Given the description of an element on the screen output the (x, y) to click on. 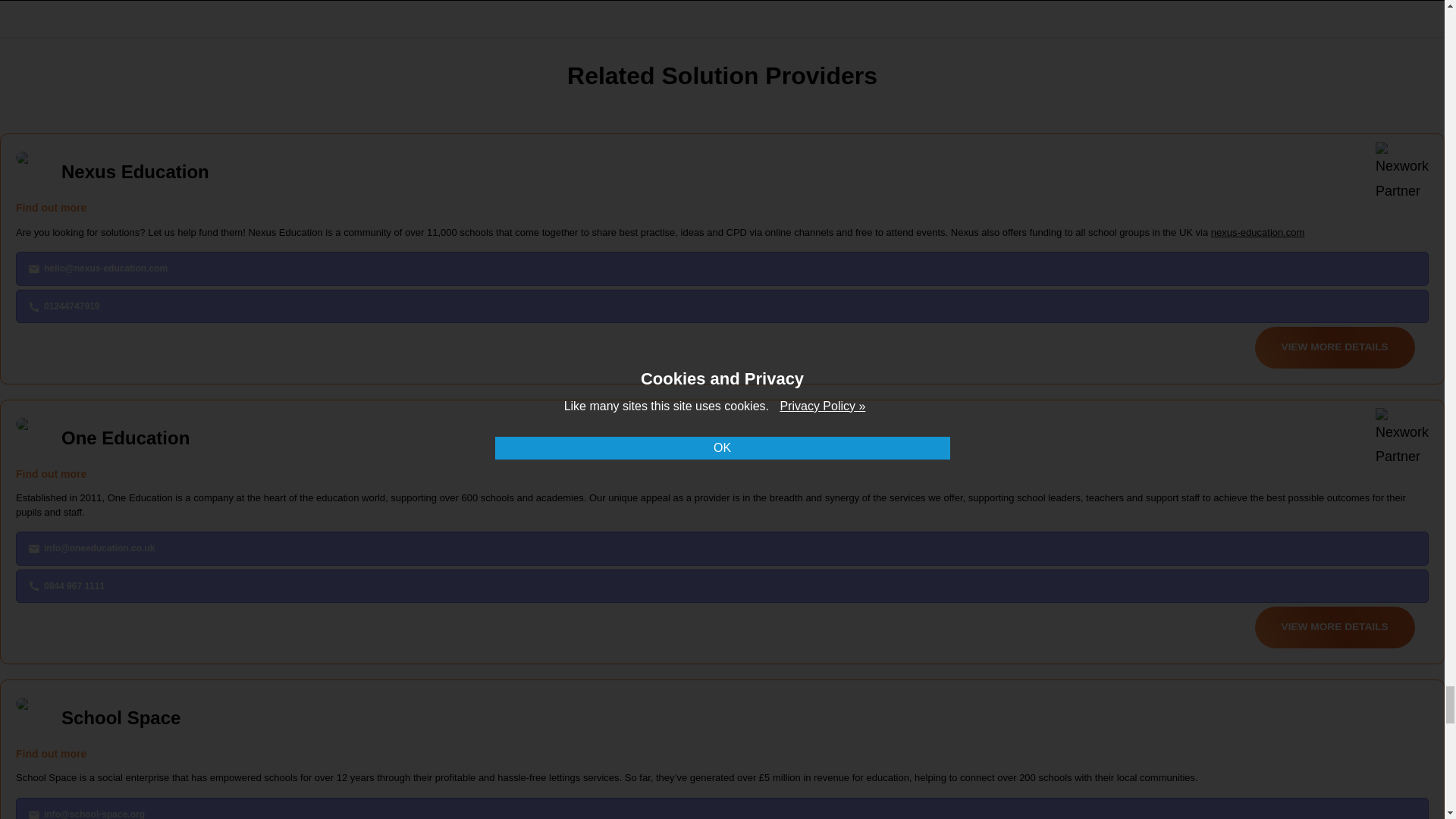
email (33, 814)
call (33, 306)
email (33, 548)
call (33, 585)
email (33, 268)
